Given the description of an element on the screen output the (x, y) to click on. 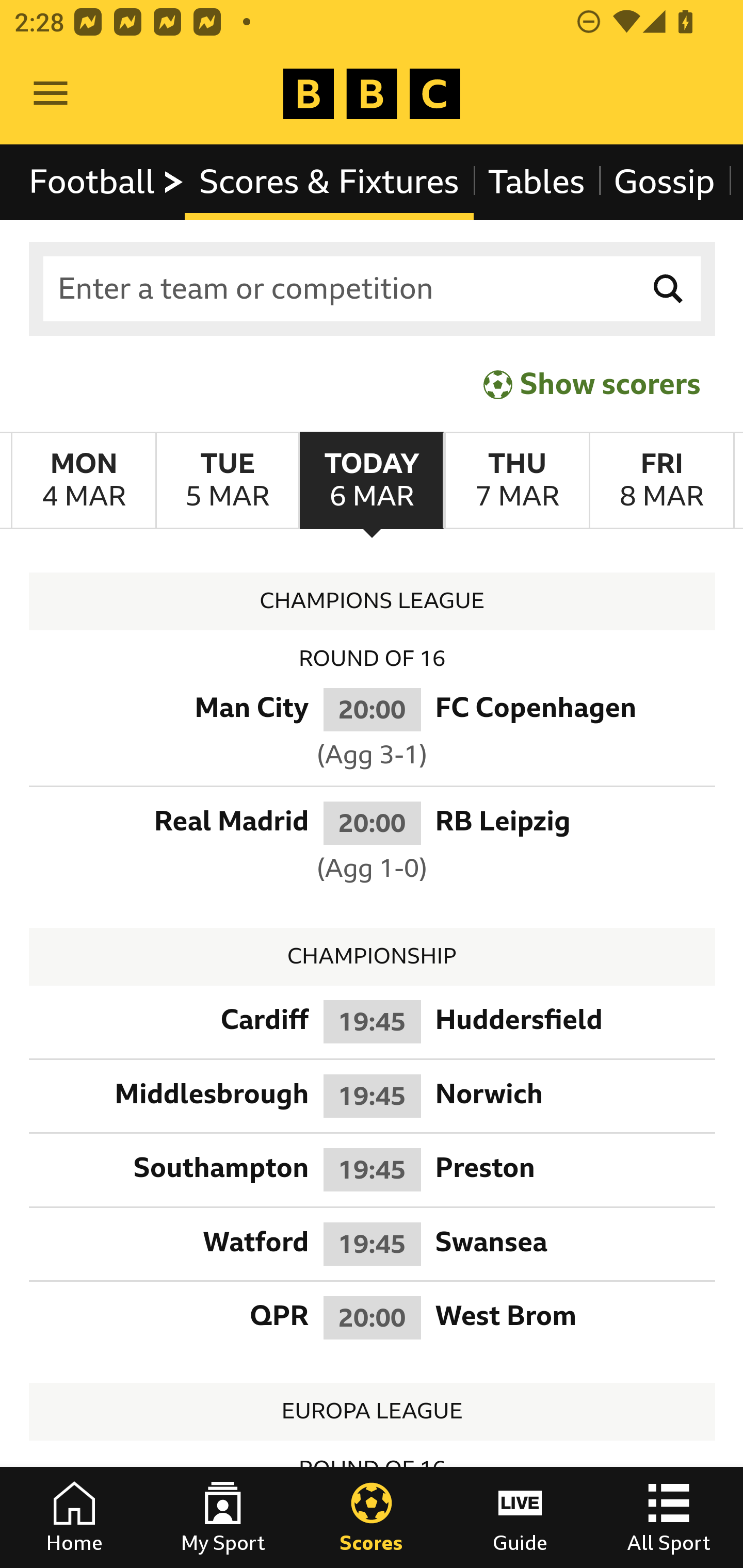
Open Menu (50, 93)
Football  (106, 181)
Scores & Fixtures (329, 181)
Tables (536, 181)
Gossip (664, 181)
Search (669, 289)
Show scorers (591, 383)
MondayMarch 4th Monday March 4th (83, 480)
TuesdayMarch 5th Tuesday March 5th (227, 480)
ThursdayMarch 7th Thursday March 7th (516, 480)
FridayMarch 8th Friday March 8th (661, 480)
Home (74, 1517)
My Sport (222, 1517)
Guide (519, 1517)
All Sport (668, 1517)
